Given the description of an element on the screen output the (x, y) to click on. 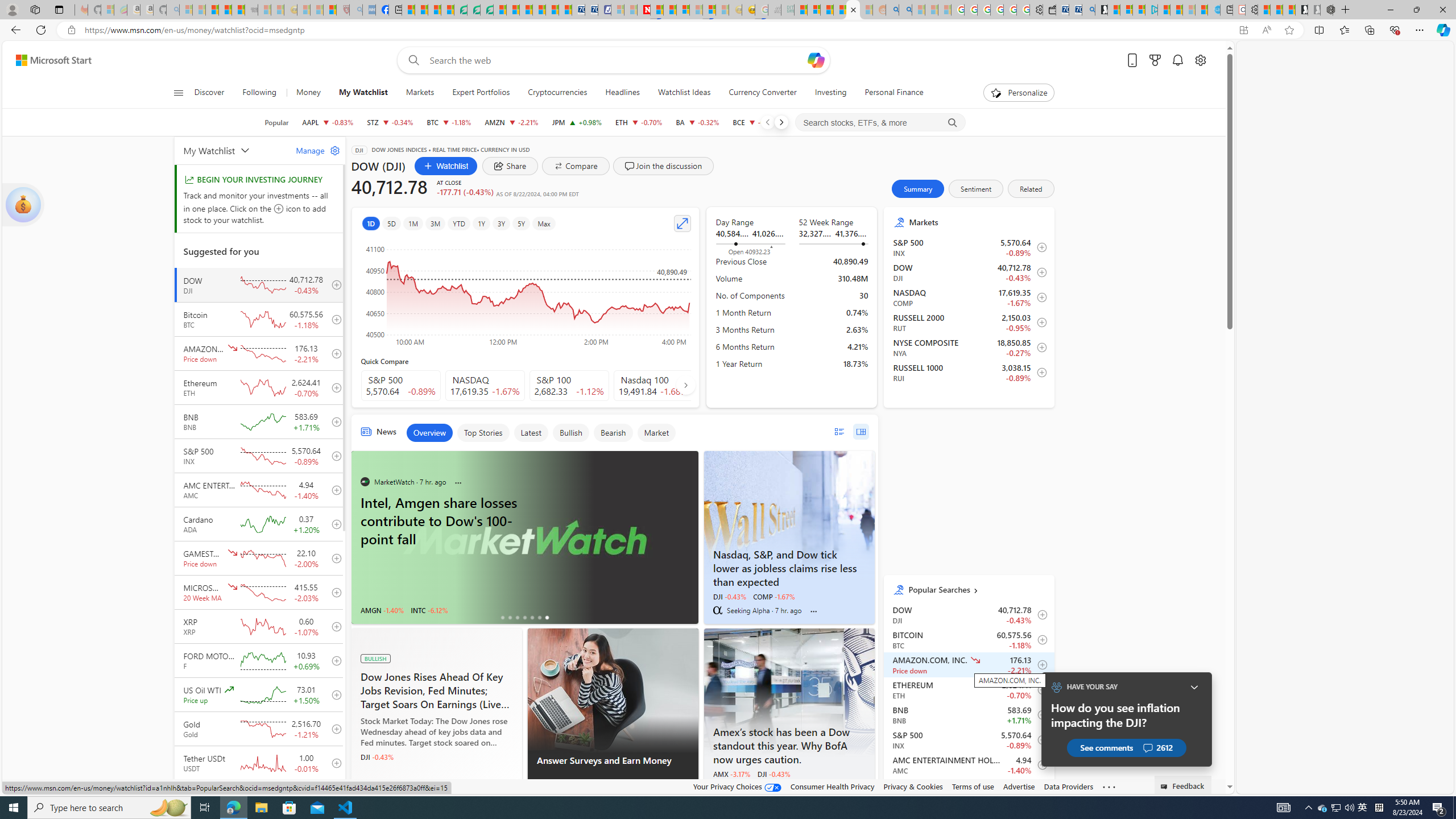
Previous (767, 122)
BNB BNB increase 583.69 +10.00 +1.71% itemundefined (968, 714)
Data Providers (1068, 785)
Headlines (622, 92)
INTC -6.12% (429, 610)
